Given the description of an element on the screen output the (x, y) to click on. 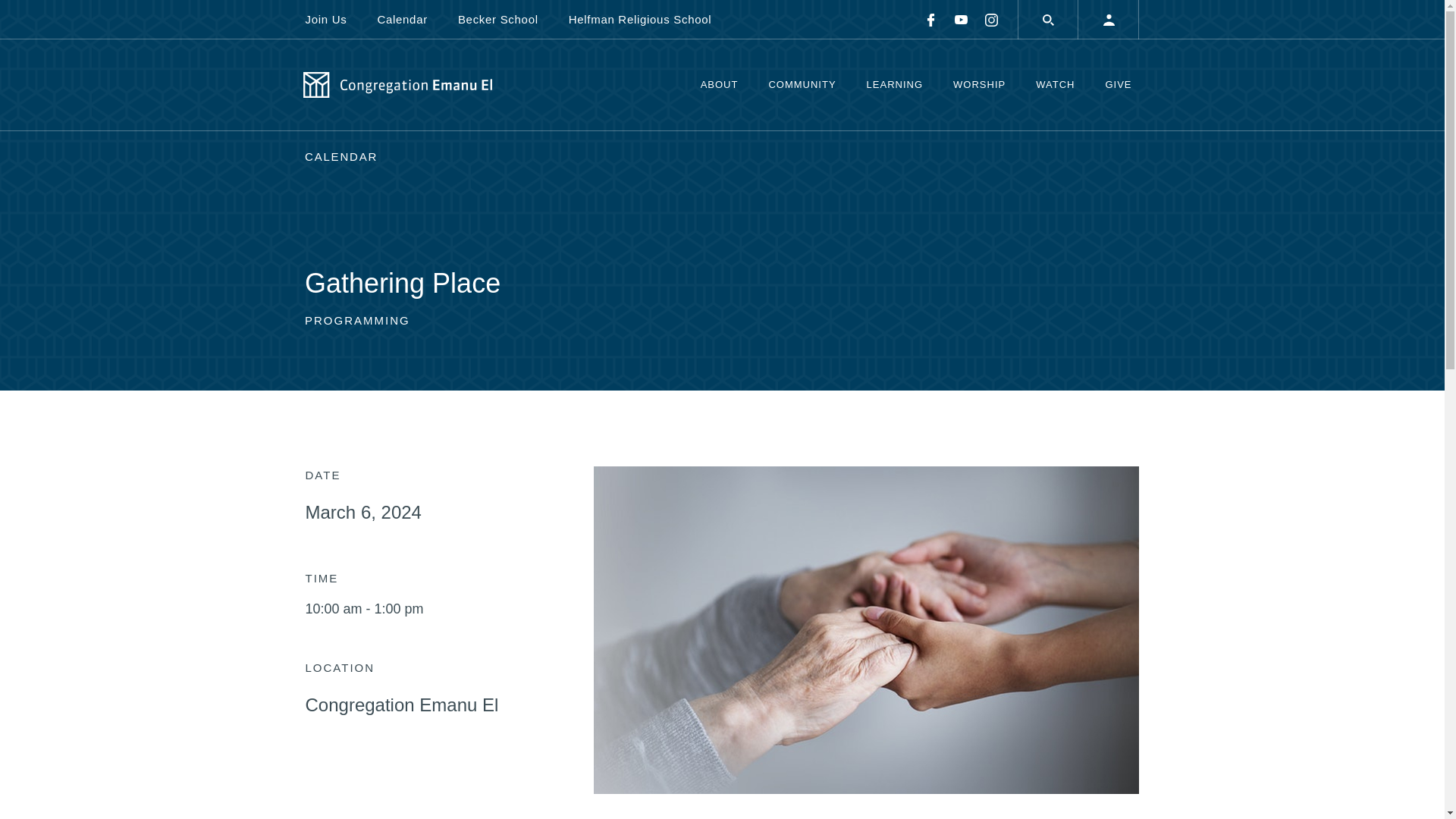
Helfman Religious School (639, 19)
Calendar (401, 19)
Join Us (332, 19)
ABOUT (719, 84)
Search (1047, 19)
Login (1108, 19)
WORSHIP (978, 84)
COMMUNITY (801, 84)
Becker School (497, 19)
WATCH (1054, 84)
LEARNING (894, 84)
GIVE (1118, 84)
